Given the description of an element on the screen output the (x, y) to click on. 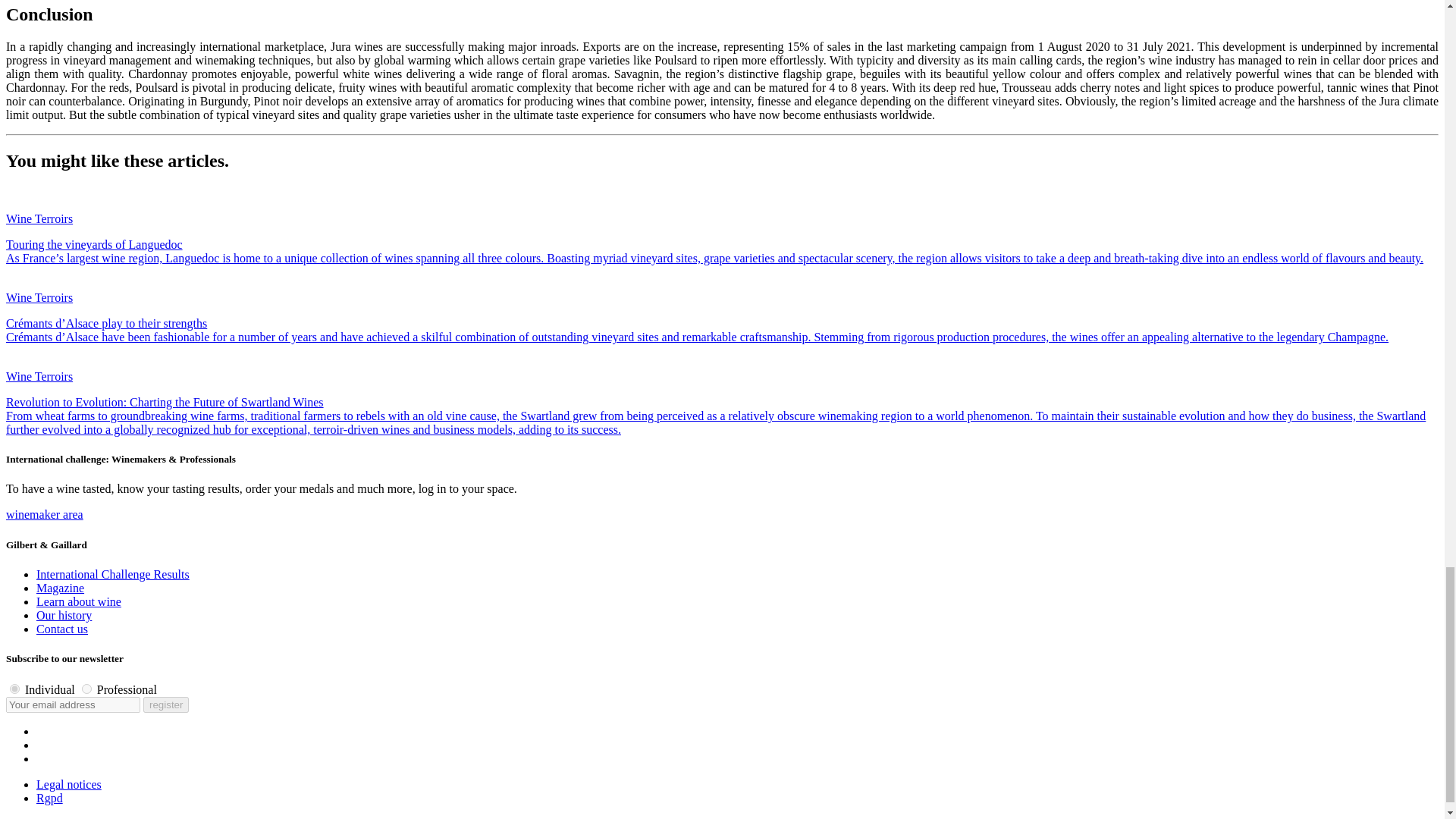
winemaker area (43, 513)
Legal notices (68, 784)
Rgpd (49, 797)
Contact us (61, 628)
professional (86, 688)
individual (15, 688)
Magazine (60, 587)
International Challenge Results (112, 574)
Our history (63, 615)
Learn about wine (78, 601)
